Given the description of an element on the screen output the (x, y) to click on. 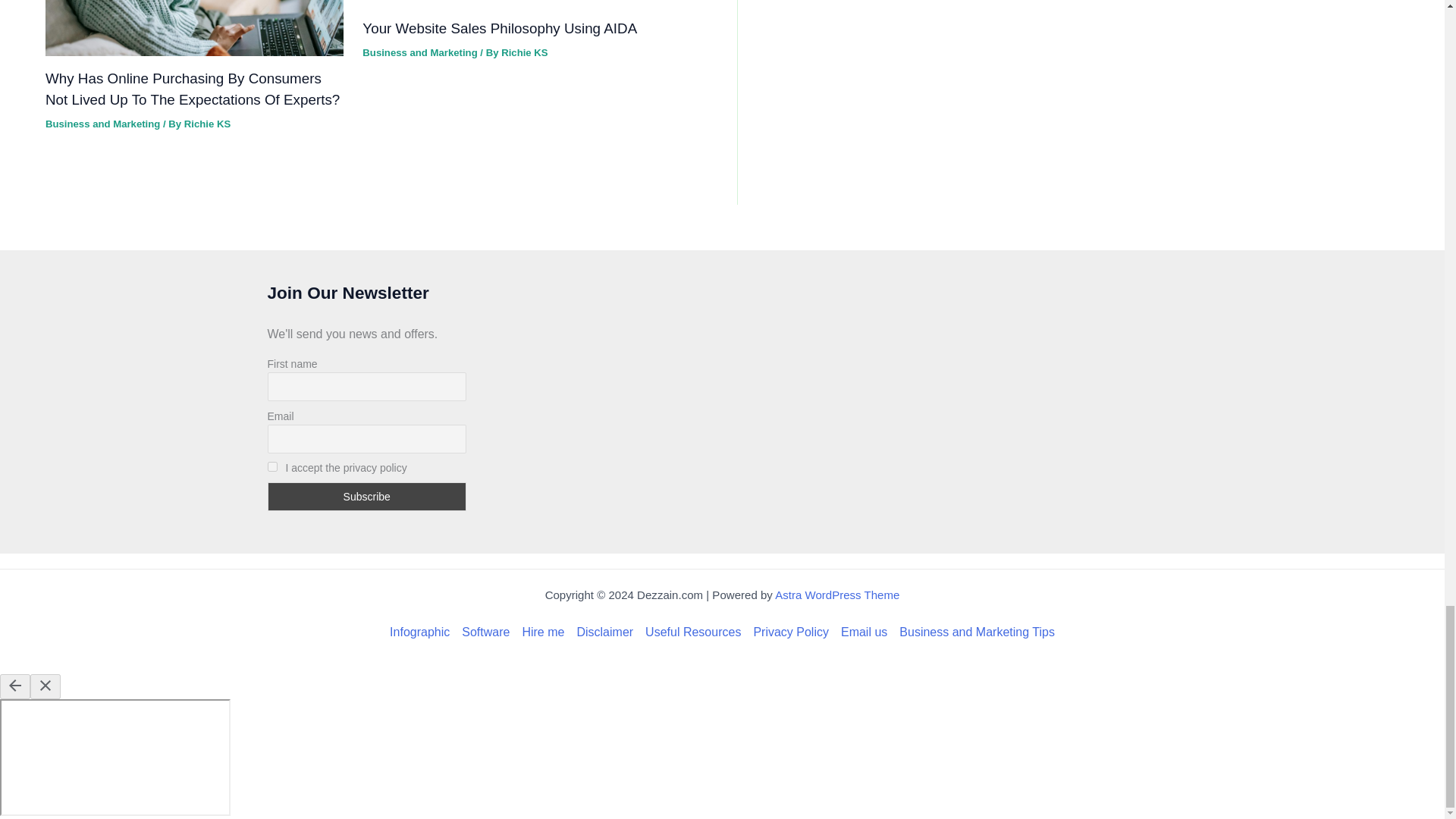
View all posts by Richie KS (207, 123)
View all posts by Richie KS (523, 52)
on (271, 466)
Subscribe (365, 496)
